Given the description of an element on the screen output the (x, y) to click on. 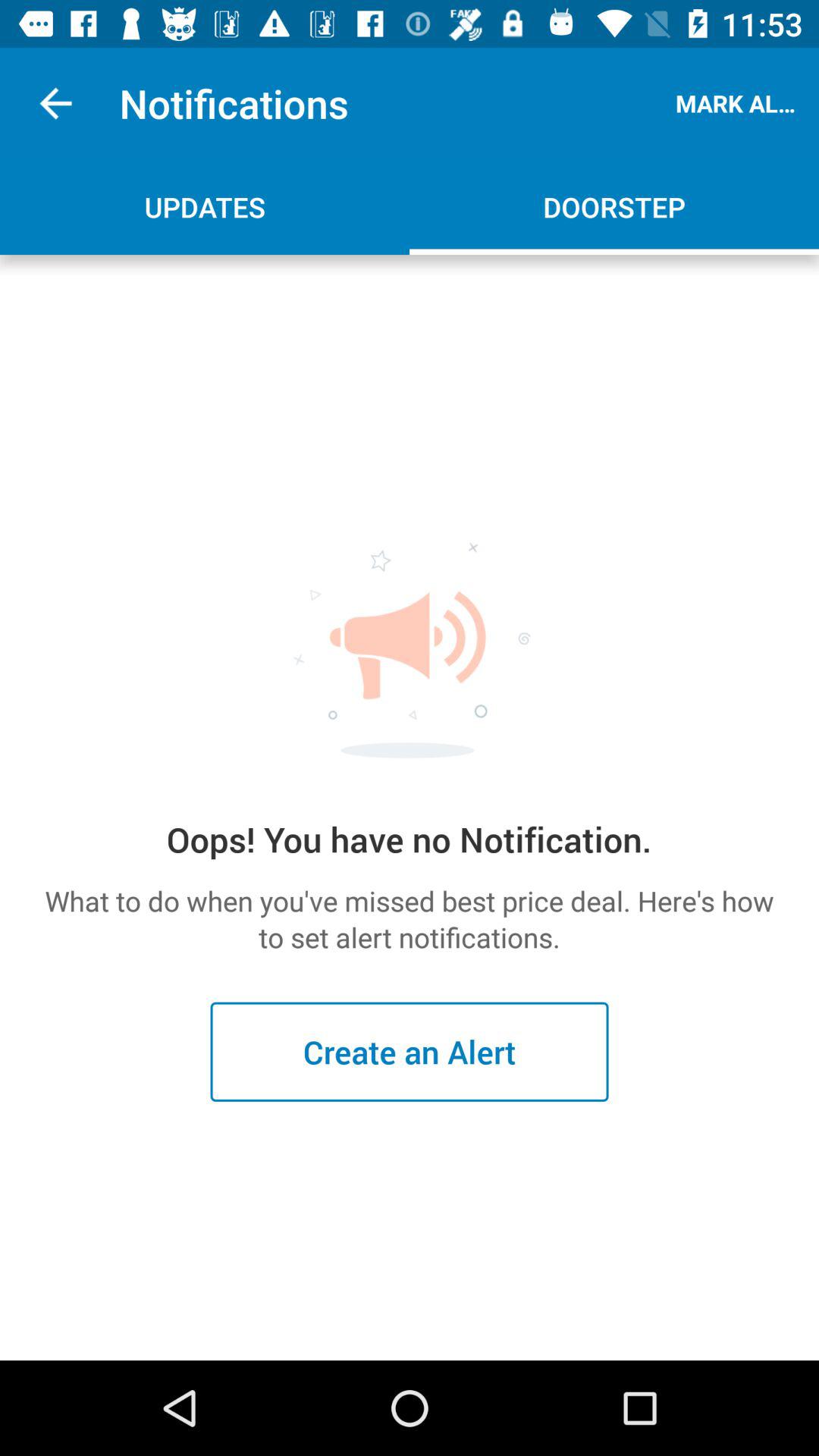
open icon to the left of doorstep (204, 206)
